Given the description of an element on the screen output the (x, y) to click on. 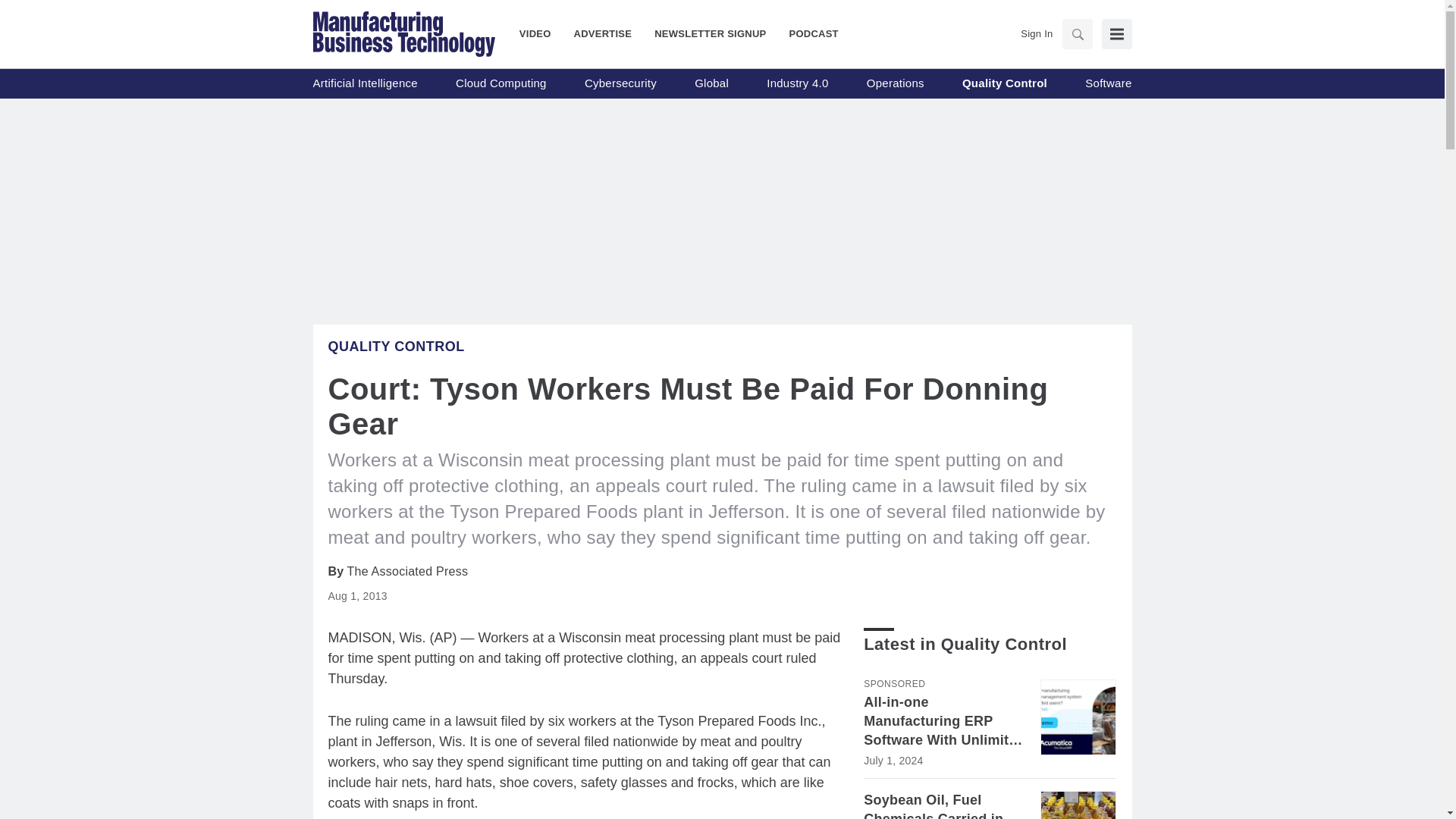
Software (1107, 83)
NEWSLETTER SIGNUP (710, 33)
ADVERTISE (602, 33)
VIDEO (540, 33)
Industry 4.0 (797, 83)
Cybersecurity (620, 83)
Sponsored (893, 683)
Operations (895, 83)
Cloud Computing (501, 83)
Sign In (1036, 33)
Quality Control (395, 346)
PODCAST (807, 33)
Quality Control (1004, 83)
Artificial Intelligence (364, 83)
Global (711, 83)
